Given the description of an element on the screen output the (x, y) to click on. 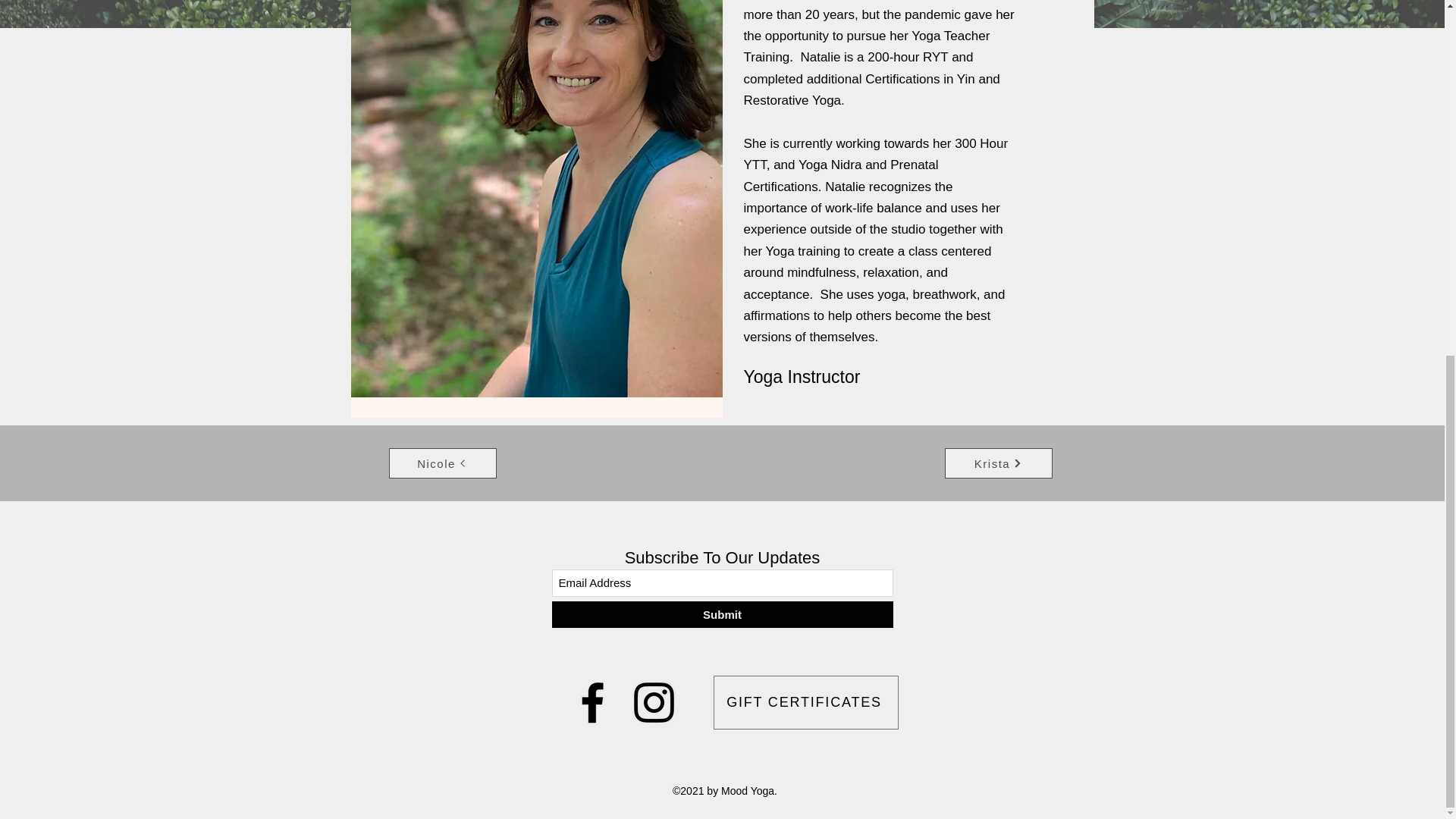
Krista (998, 462)
Submit (722, 614)
GIFT CERTIFICATES (805, 702)
Nicole (442, 462)
